Given the description of an element on the screen output the (x, y) to click on. 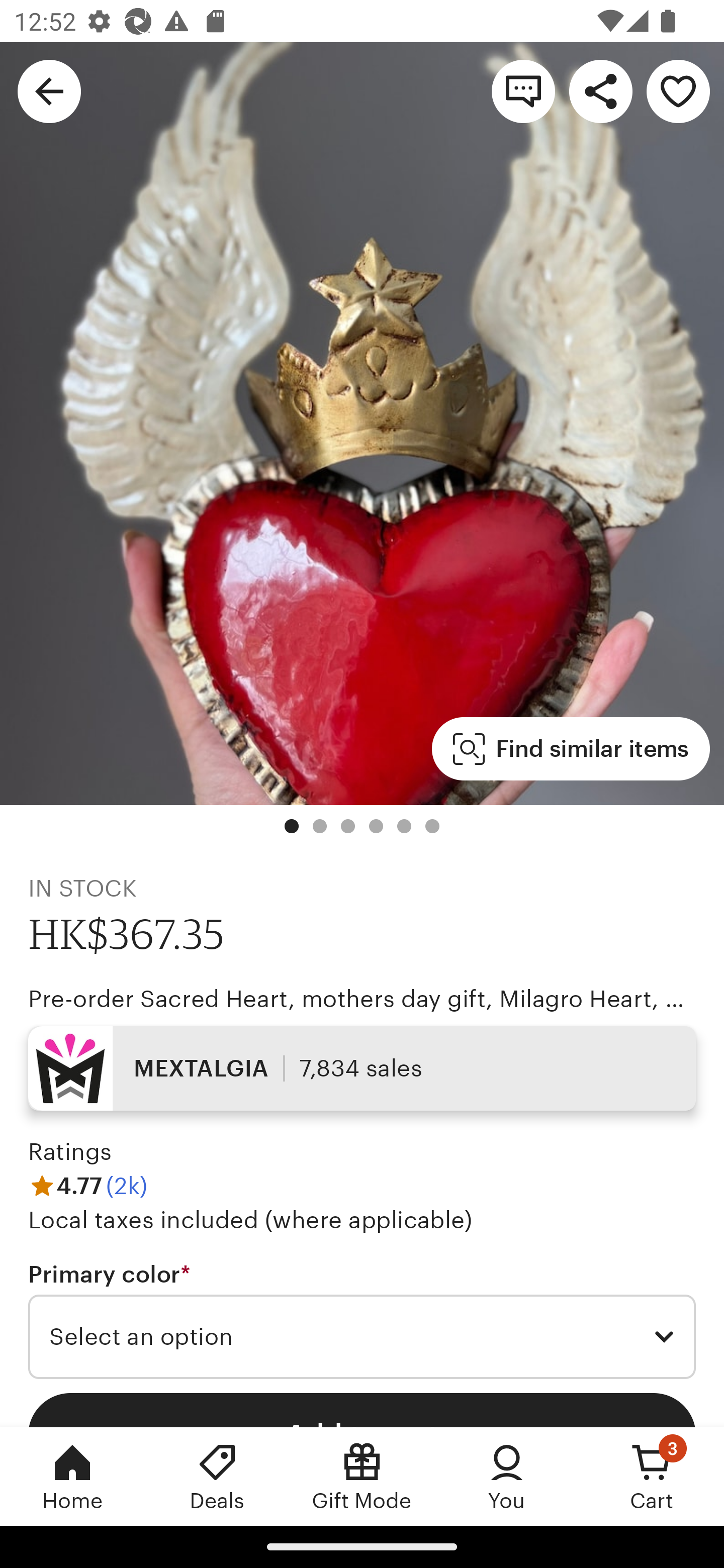
Navigate up (49, 90)
Contact shop (523, 90)
Share (600, 90)
Find similar items (571, 748)
MEXTALGIA 7,834 sales (361, 1067)
Ratings (70, 1151)
4.77 (2k) (87, 1185)
Primary color * Required Select an option (361, 1319)
Select an option (361, 1336)
Deals (216, 1475)
Gift Mode (361, 1475)
You (506, 1475)
Cart, 3 new notifications Cart (651, 1475)
